Given the description of an element on the screen output the (x, y) to click on. 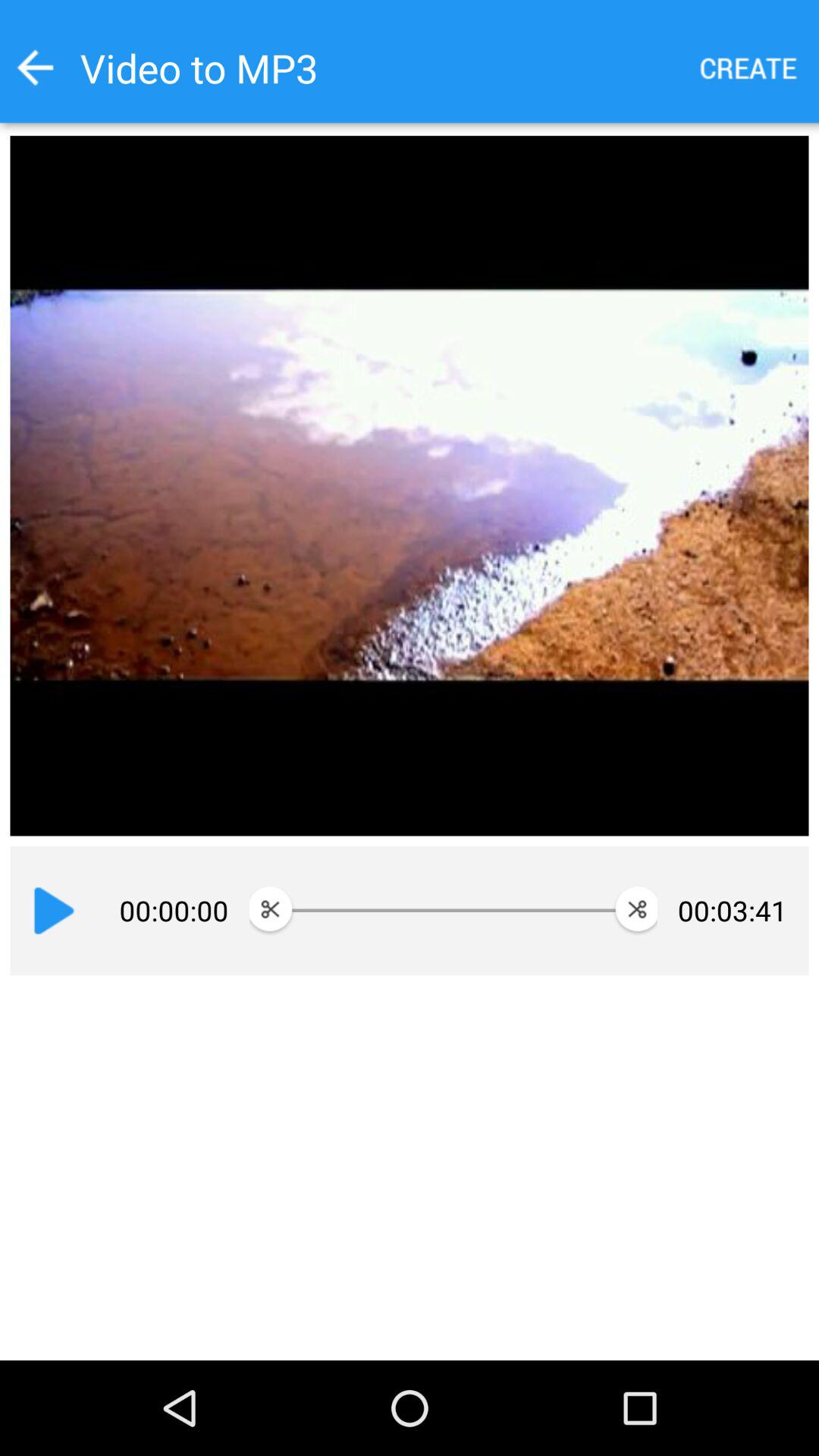
launch the icon to the right of the video to mp3 (749, 67)
